Given the description of an element on the screen output the (x, y) to click on. 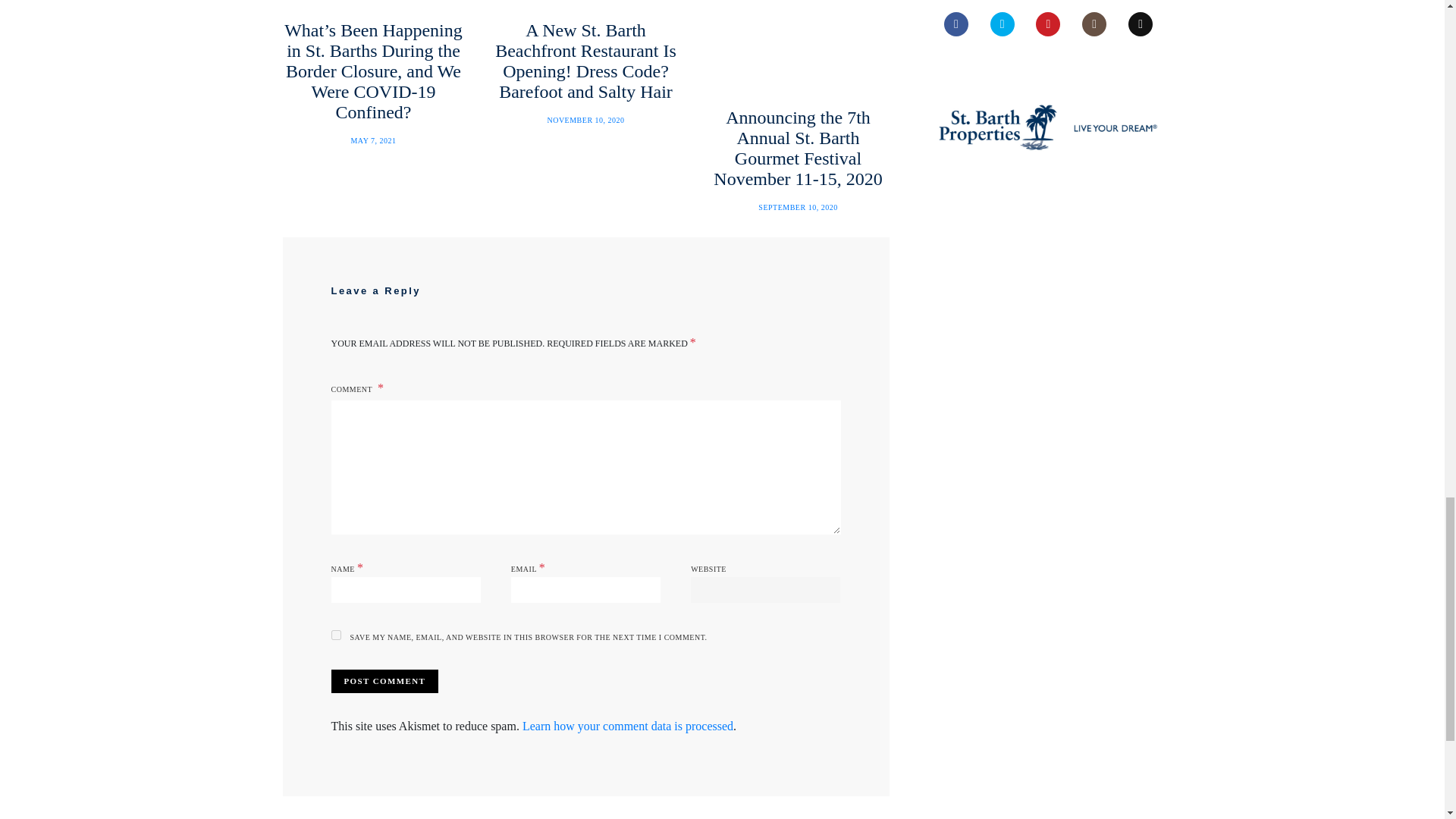
yes (335, 634)
Post Comment (384, 680)
MAY 7, 2021 (373, 140)
